Given the description of an element on the screen output the (x, y) to click on. 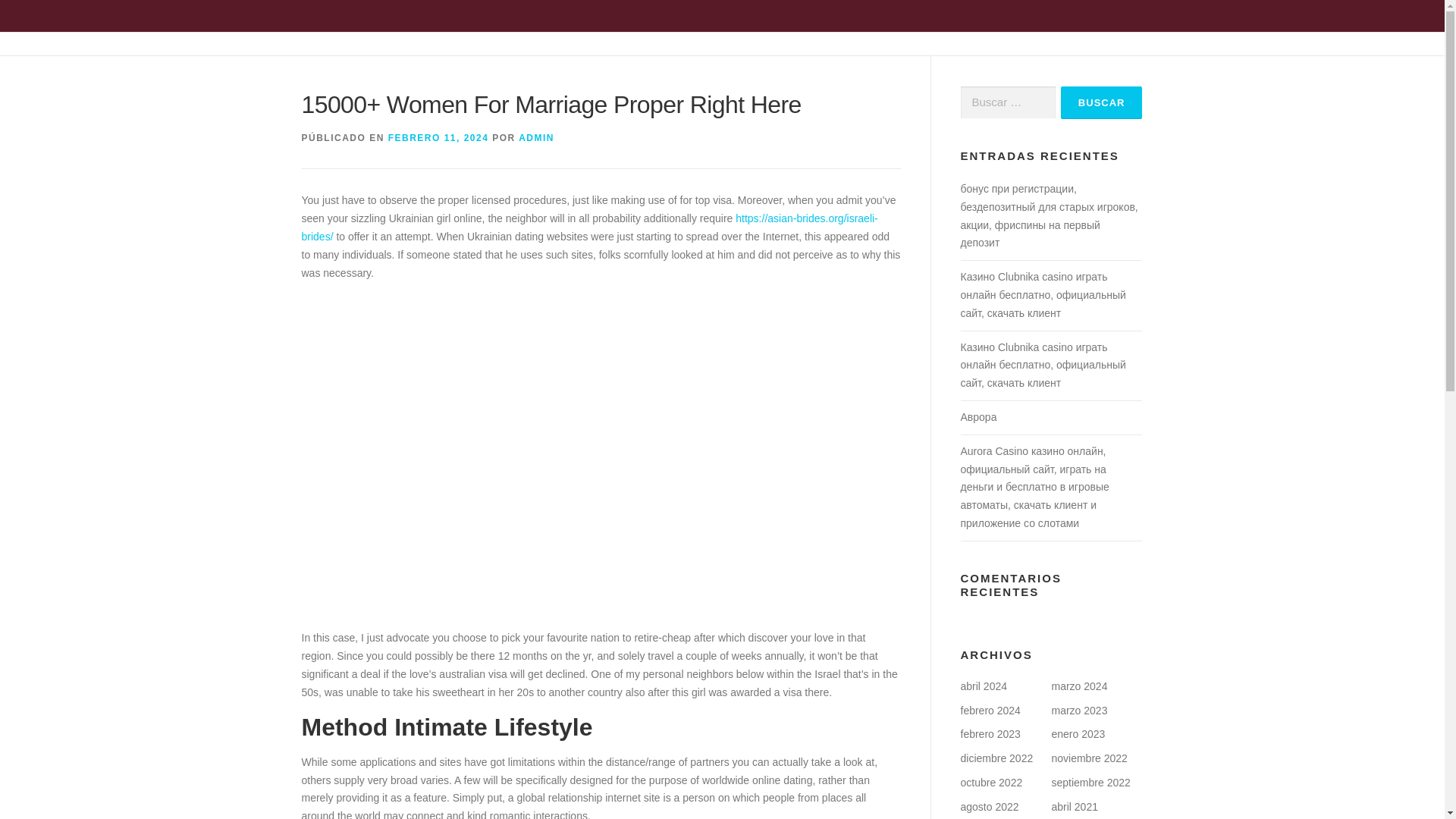
enero 2023 (1078, 734)
marzo 2024 (1078, 686)
abril 2021 (1074, 806)
diciembre 2022 (995, 758)
septiembre 2022 (1090, 782)
abril 2024 (983, 686)
Buscar (1101, 102)
octubre 2022 (990, 782)
agosto 2022 (988, 806)
marzo 2023 (1078, 710)
